Given the description of an element on the screen output the (x, y) to click on. 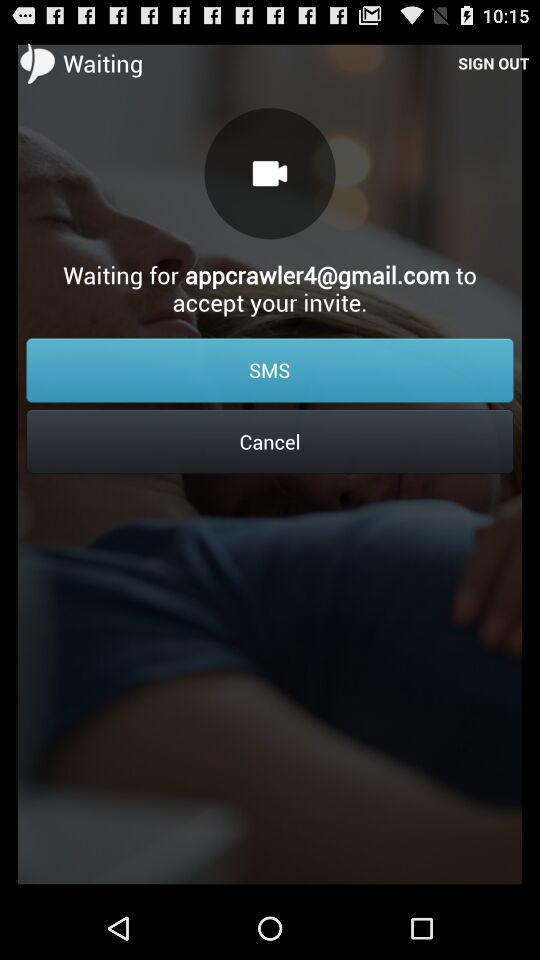
flip to cancel icon (269, 441)
